Given the description of an element on the screen output the (x, y) to click on. 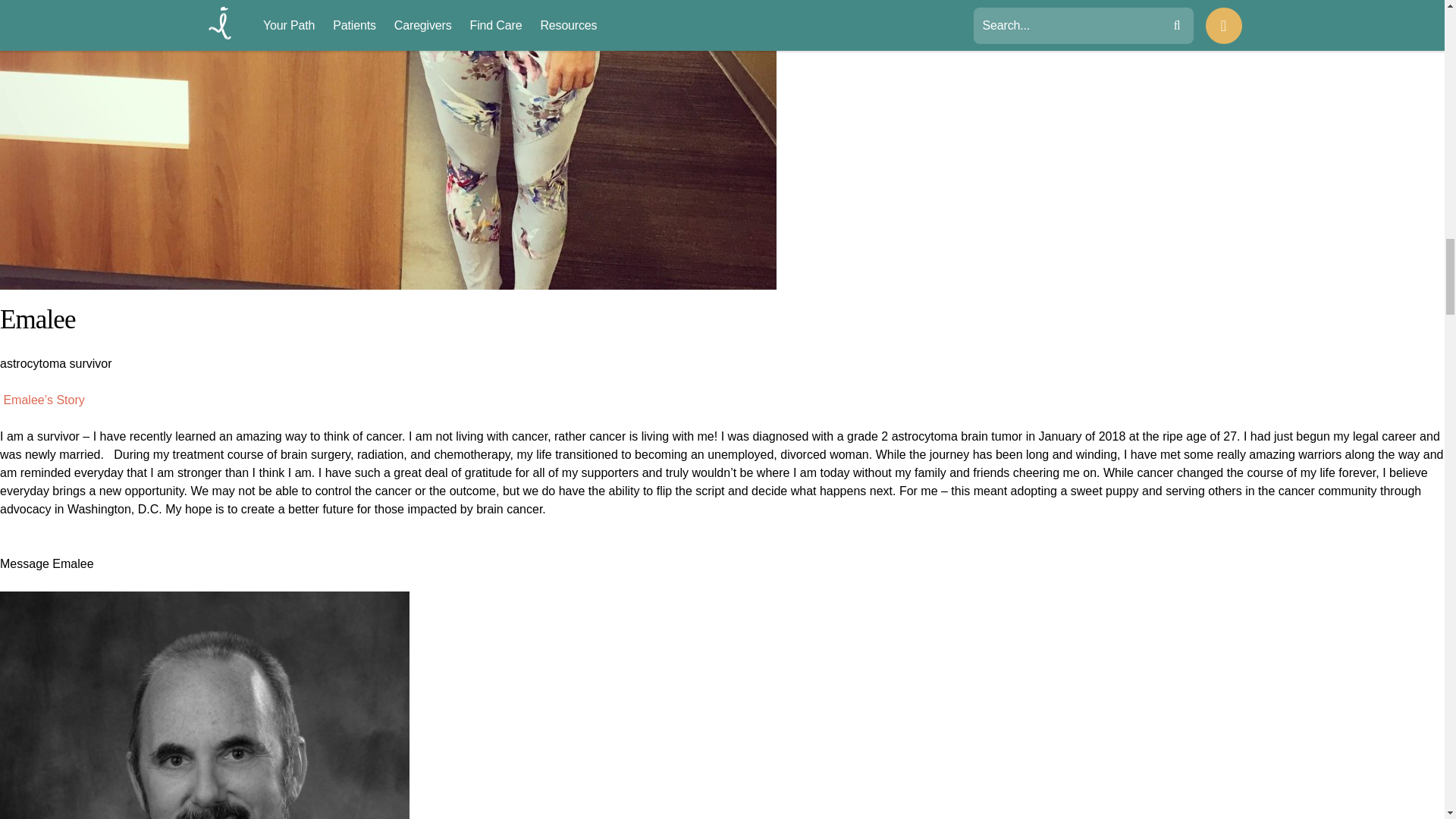
Message Emalee (47, 572)
